Given the description of an element on the screen output the (x, y) to click on. 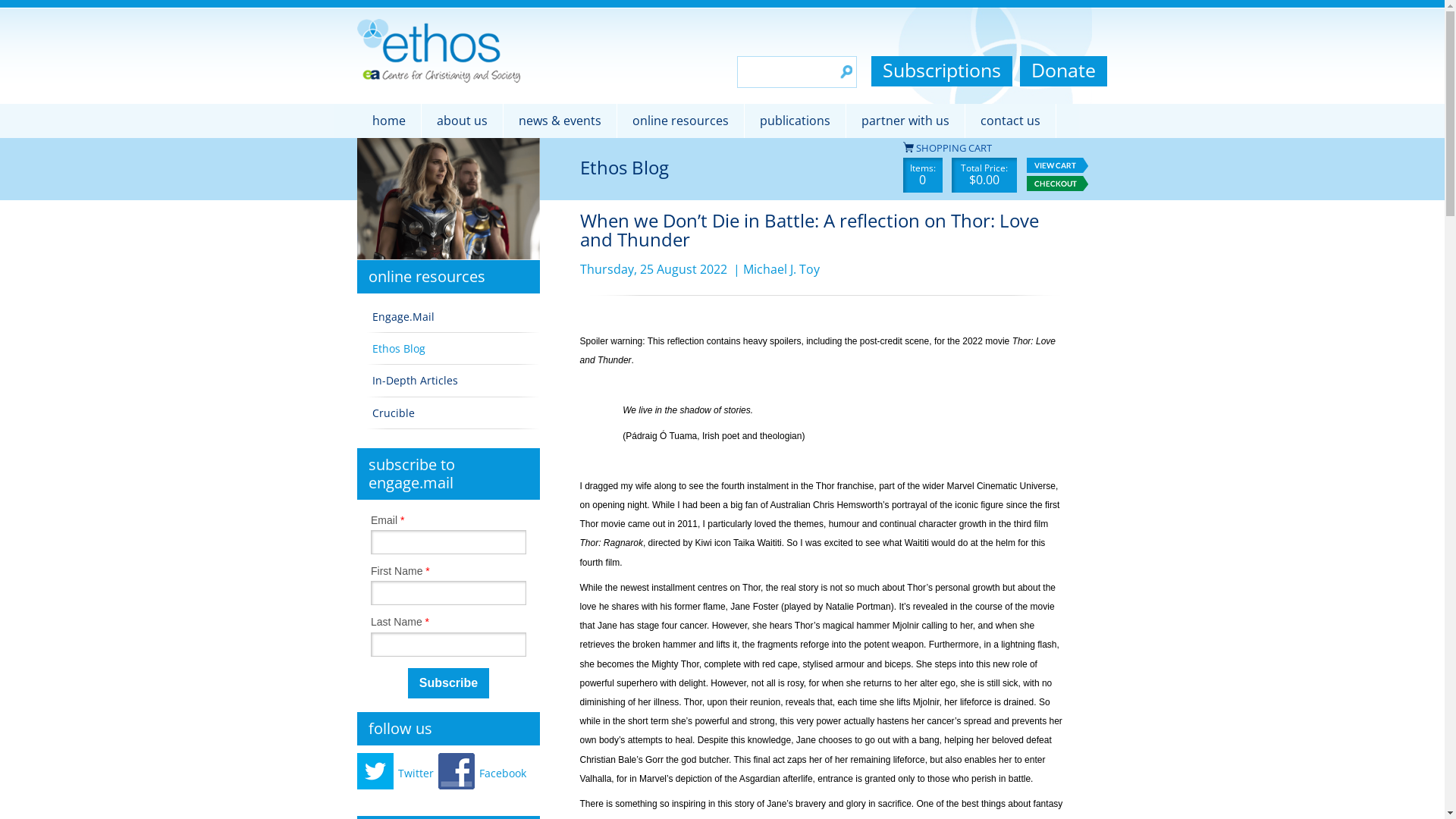
Engage.Mail Element type: text (451, 316)
Crucible Element type: text (451, 413)
publications Element type: text (795, 120)
news & events Element type: text (560, 120)
about us Element type: text (462, 120)
Ethos Blog Element type: text (451, 348)
Search Element type: text (846, 71)
Donate Element type: text (1062, 71)
home Element type: text (388, 120)
Subscriptions Element type: text (940, 71)
partner with us Element type: text (905, 120)
In-Depth Articles Element type: text (451, 380)
online resources Element type: text (680, 120)
contact us Element type: text (1009, 120)
